Given the description of an element on the screen output the (x, y) to click on. 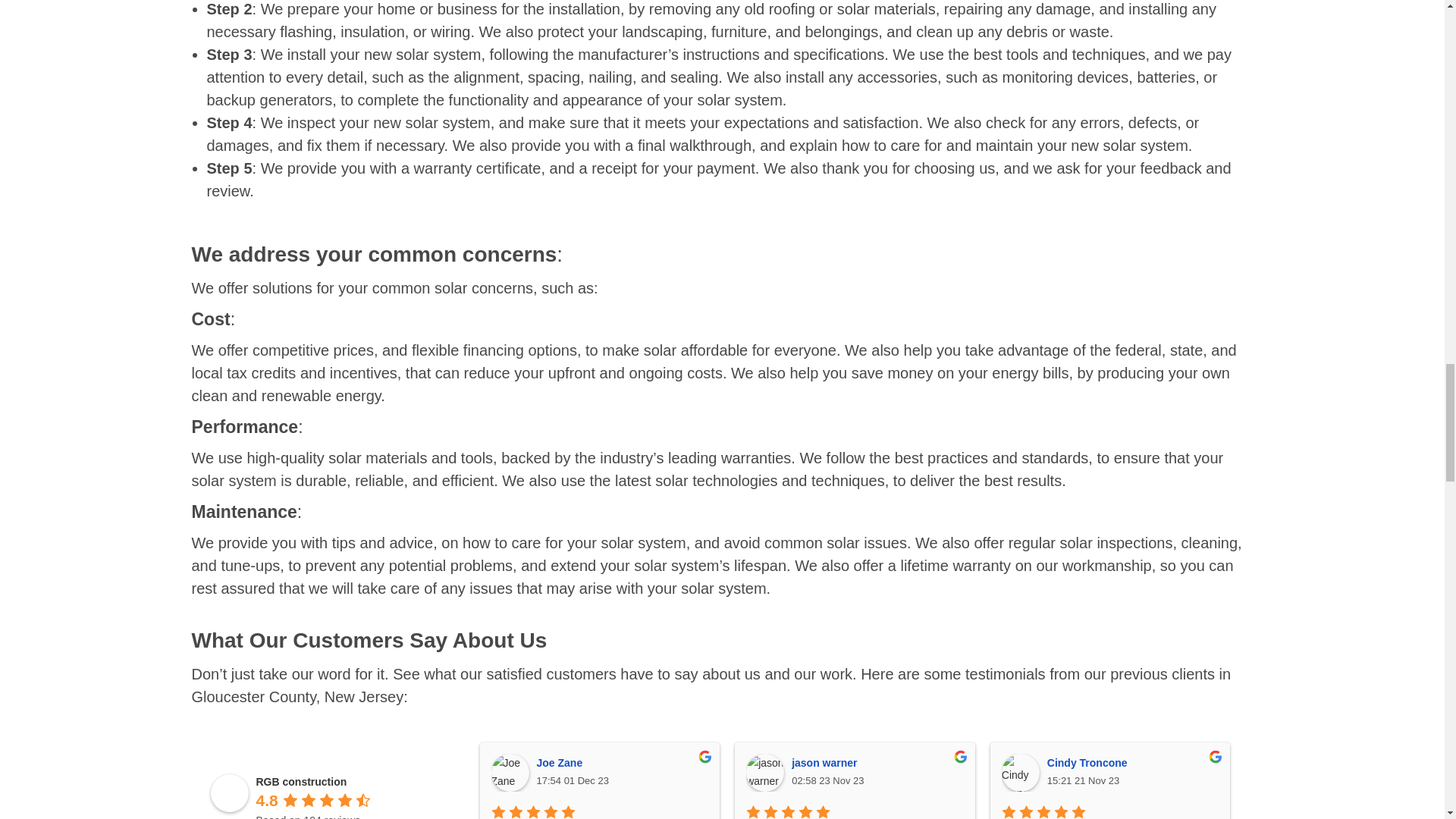
Cindy Troncone (1020, 772)
RGB construction (229, 792)
jason warner (764, 772)
Nancy Cooper (1275, 772)
Joe Zane (510, 772)
